Given the description of an element on the screen output the (x, y) to click on. 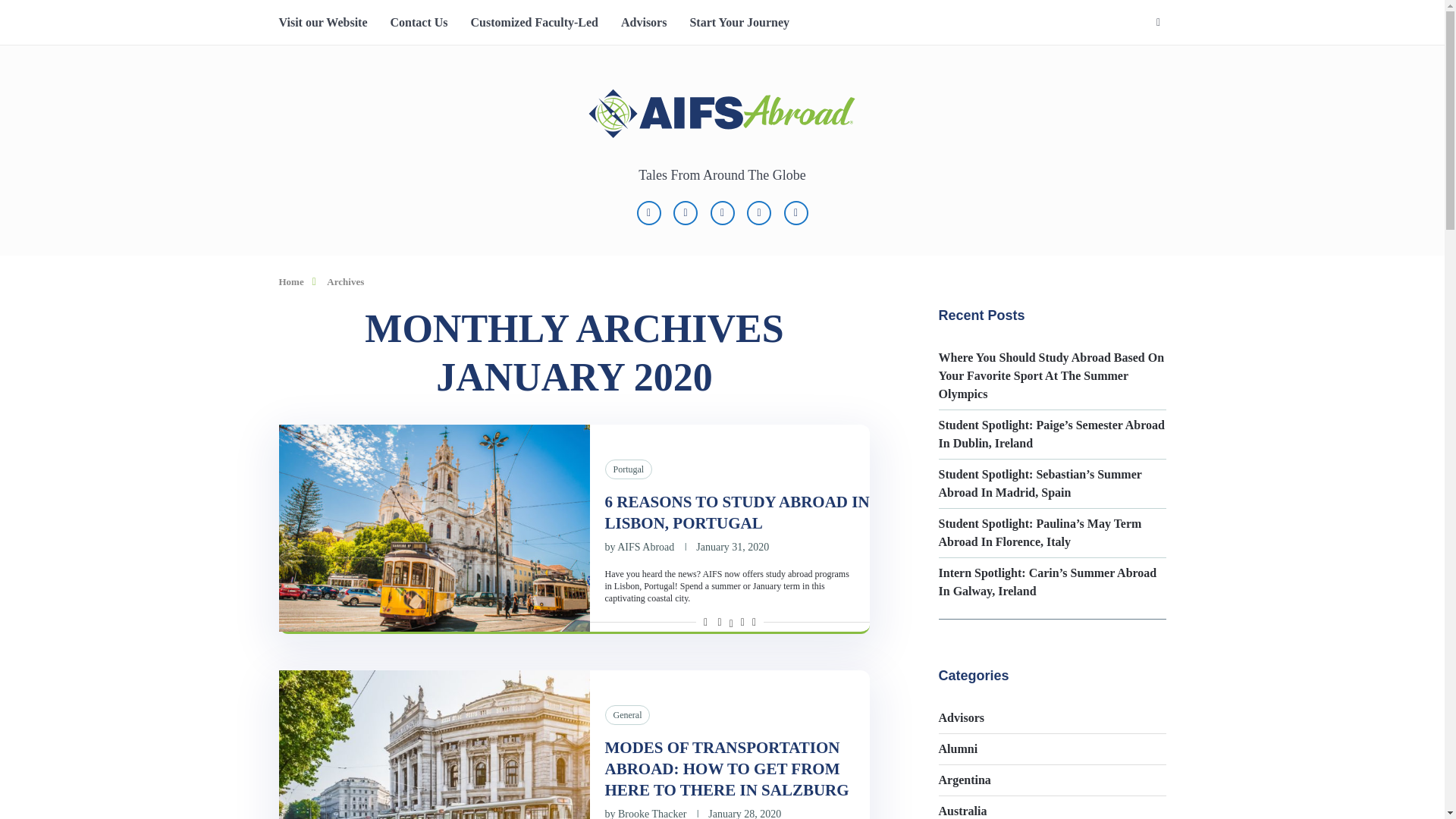
Visit our Website (323, 22)
Advisors (643, 22)
Home (291, 281)
Contact Us (419, 22)
General (627, 714)
Brooke Thacker (651, 813)
AIFS Abroad (645, 546)
6 Reasons to Study Abroad in Lisbon, Portugal (434, 528)
Portugal (628, 469)
Customized Faculty-Led (534, 22)
Start Your Journey (738, 22)
6 REASONS TO STUDY ABROAD IN LISBON, PORTUGAL (737, 512)
